Given the description of an element on the screen output the (x, y) to click on. 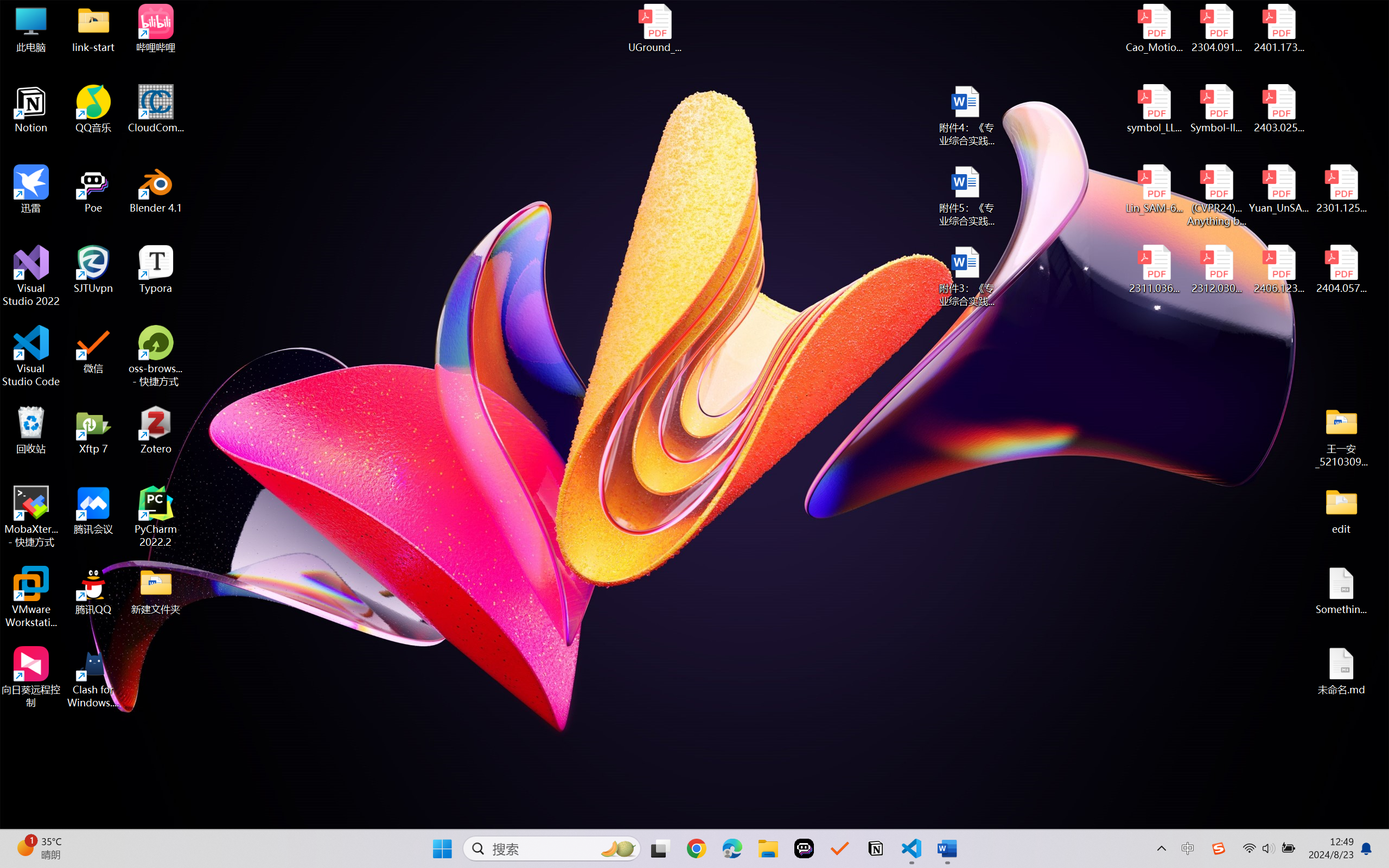
Visual Studio 2022 (31, 276)
2311.03658v2.pdf (1154, 269)
2403.02502v1.pdf (1278, 109)
Typora (156, 269)
Visual Studio Code (31, 355)
